Given the description of an element on the screen output the (x, y) to click on. 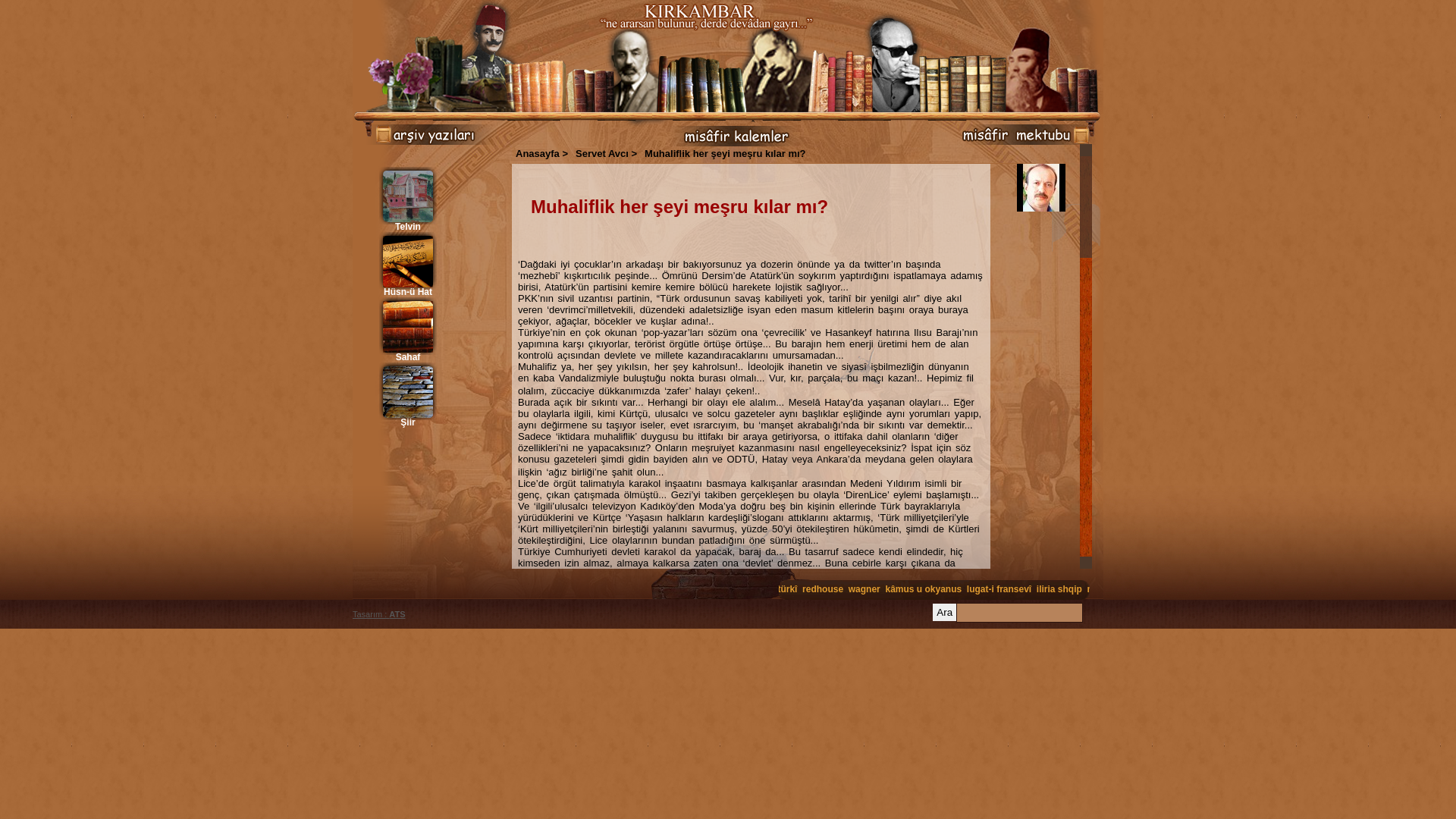
Ara Element type: text (944, 612)
Telvin Element type: text (407, 199)
Anasayfa > Element type: text (541, 153)
sizden gelenler Element type: hover (993, 136)
misafir kalemler Element type: hover (731, 135)
Sahaf Element type: text (407, 329)
